Given the description of an element on the screen output the (x, y) to click on. 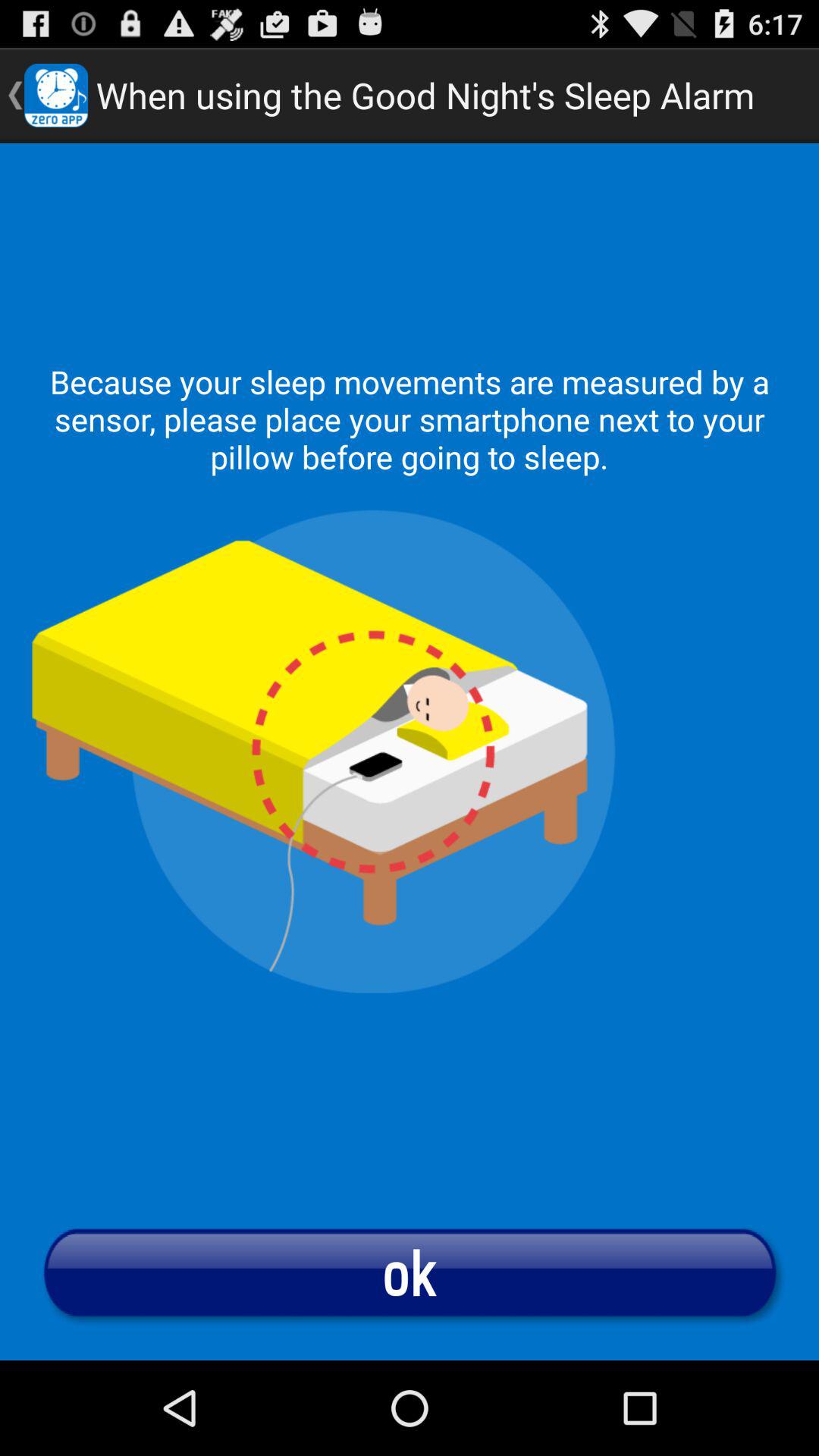
choose the button at the bottom (409, 1271)
